Given the description of an element on the screen output the (x, y) to click on. 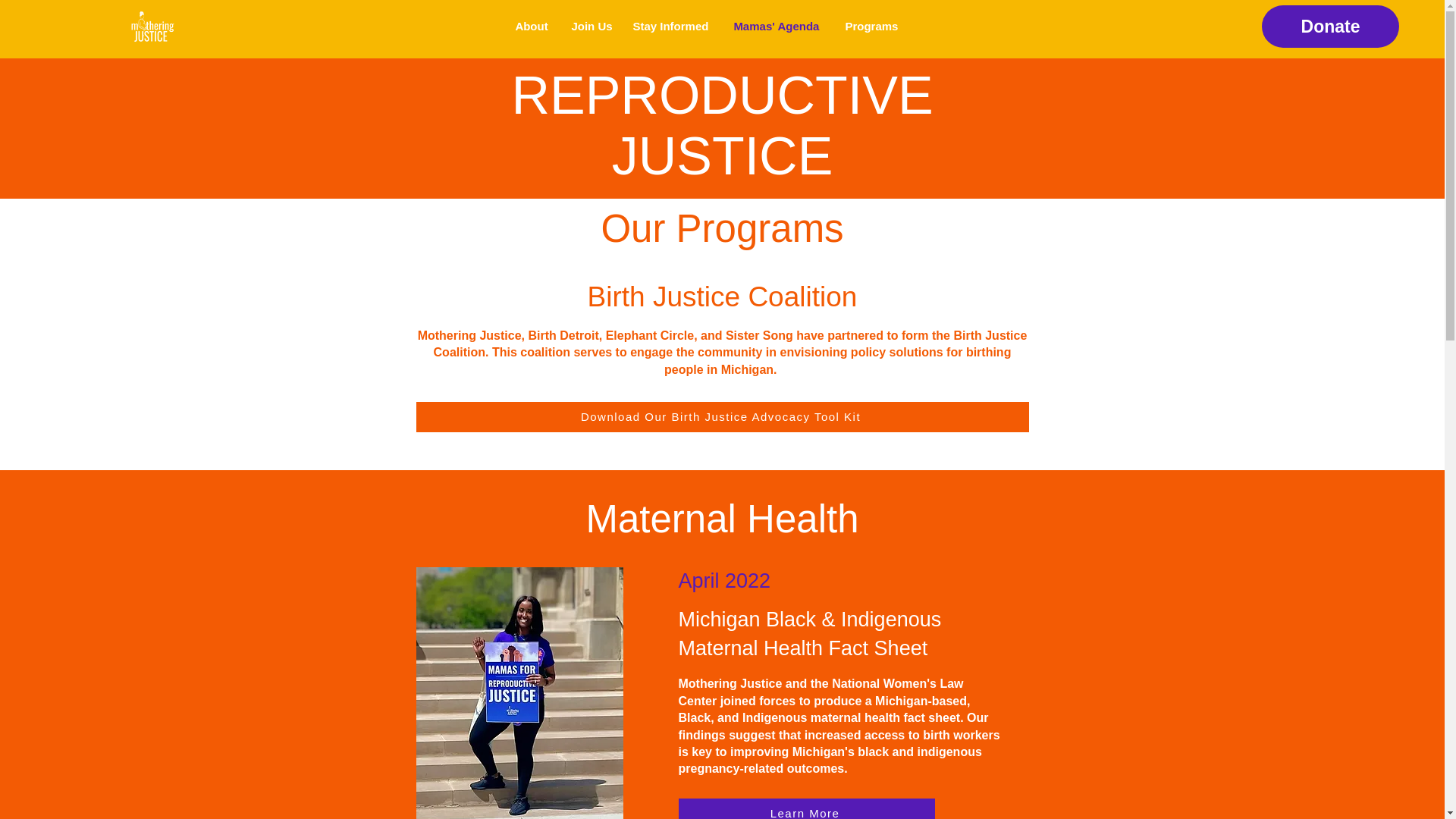
Donate (1330, 25)
Join Us (590, 26)
Mamas' Agenda (777, 26)
Stay Informed (671, 26)
Learn More (806, 808)
About (531, 26)
Programs (870, 26)
Download Our Birth Justice Advocacy Tool Kit (720, 417)
